Given the description of an element on the screen output the (x, y) to click on. 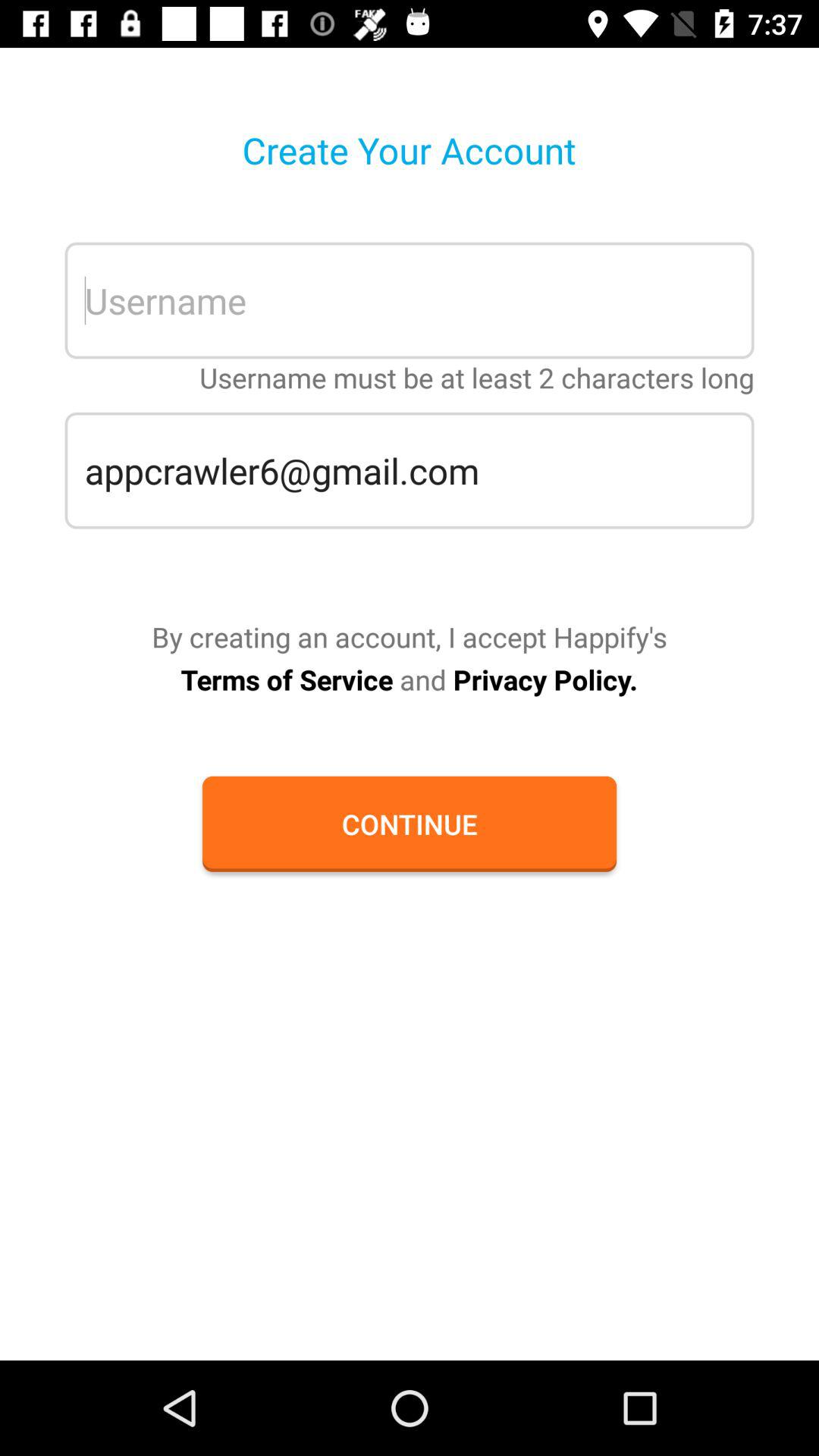
swipe until appcrawler6@gmail.com (409, 470)
